Given the description of an element on the screen output the (x, y) to click on. 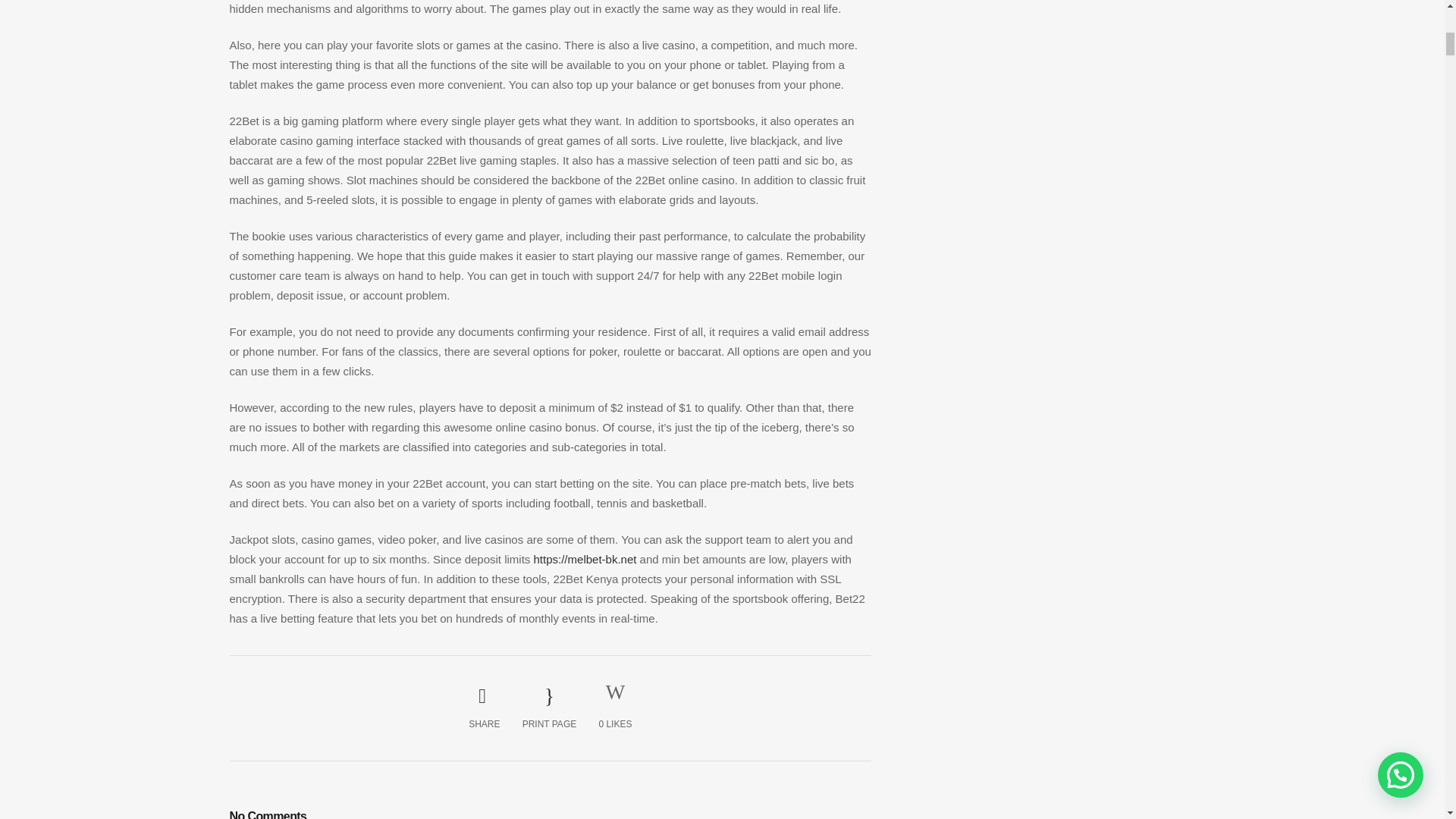
PRINT PAGE (549, 707)
